Given the description of an element on the screen output the (x, y) to click on. 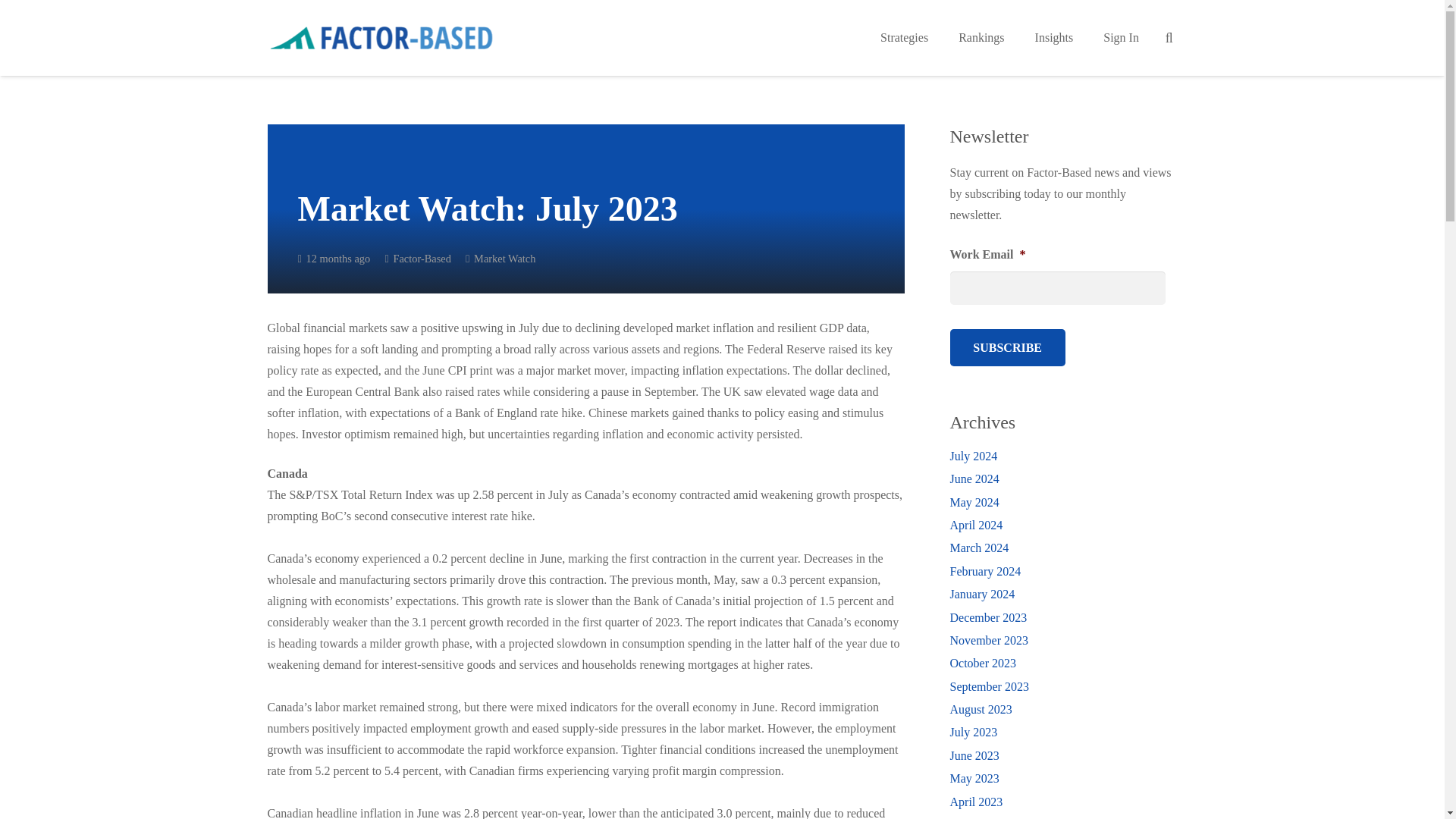
February 2024 (984, 571)
April 2023 (976, 801)
Strategies (903, 38)
May 2023 (973, 778)
Subscribe (1006, 347)
Rankings (981, 38)
Market Watch (504, 258)
June 2024 (973, 478)
March 2023 (979, 818)
January 2024 (981, 594)
December 2023 (987, 617)
March 2024 (979, 547)
Subscribe (1006, 347)
April 2024 (976, 524)
October 2023 (982, 662)
